Given the description of an element on the screen output the (x, y) to click on. 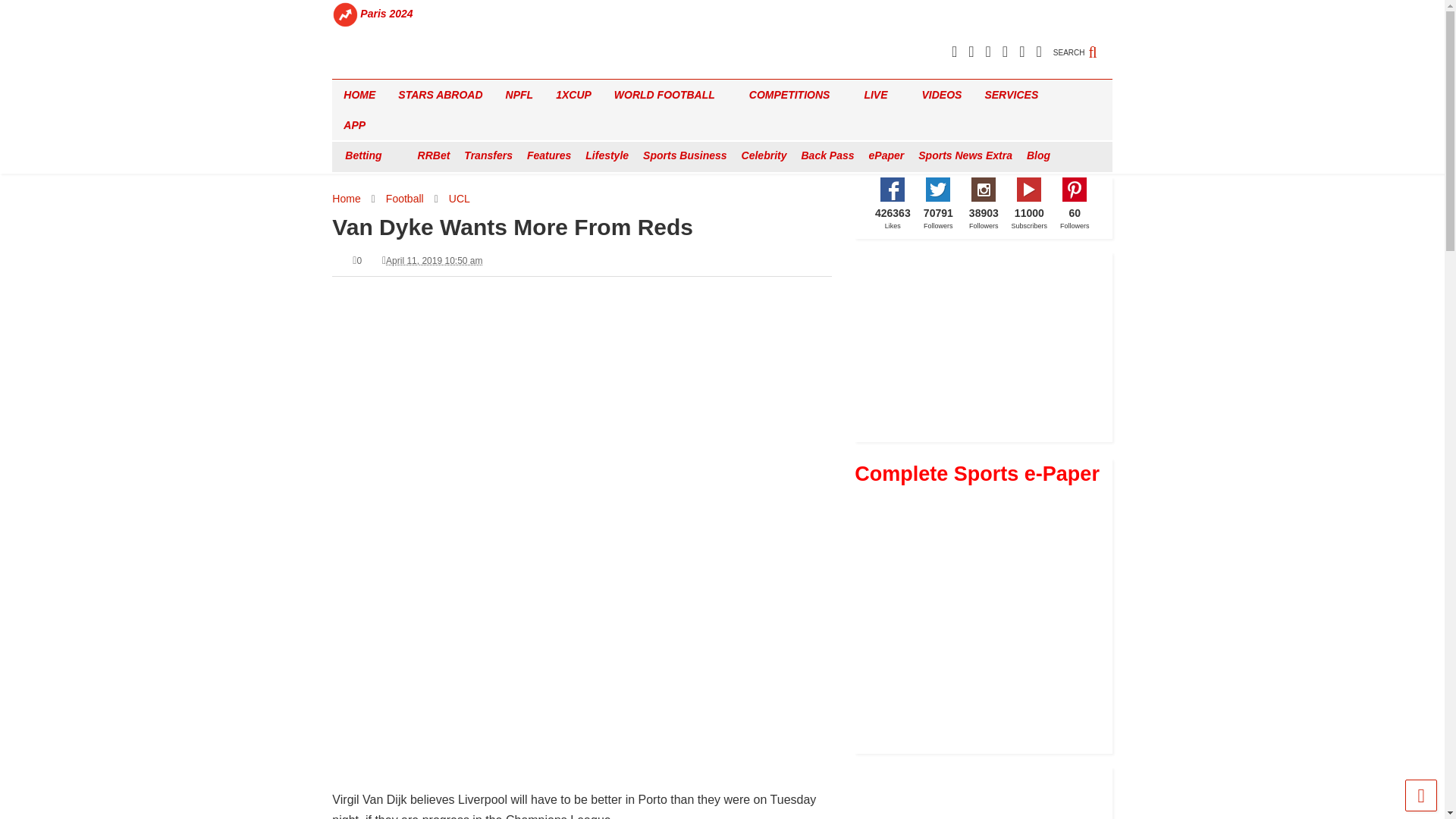
April 11, 2019 10:50 am (433, 260)
LIVE (880, 94)
SEARCH (1082, 44)
NPFL (519, 94)
Complete Sports (383, 66)
WORLD FOOTBALL (670, 94)
HOME (359, 94)
Paris 2024 (386, 13)
COMPETITIONS (795, 94)
1XCUP (573, 94)
VIDEOS (942, 94)
SERVICES (1016, 94)
STARS ABROAD (440, 94)
